Given the description of an element on the screen output the (x, y) to click on. 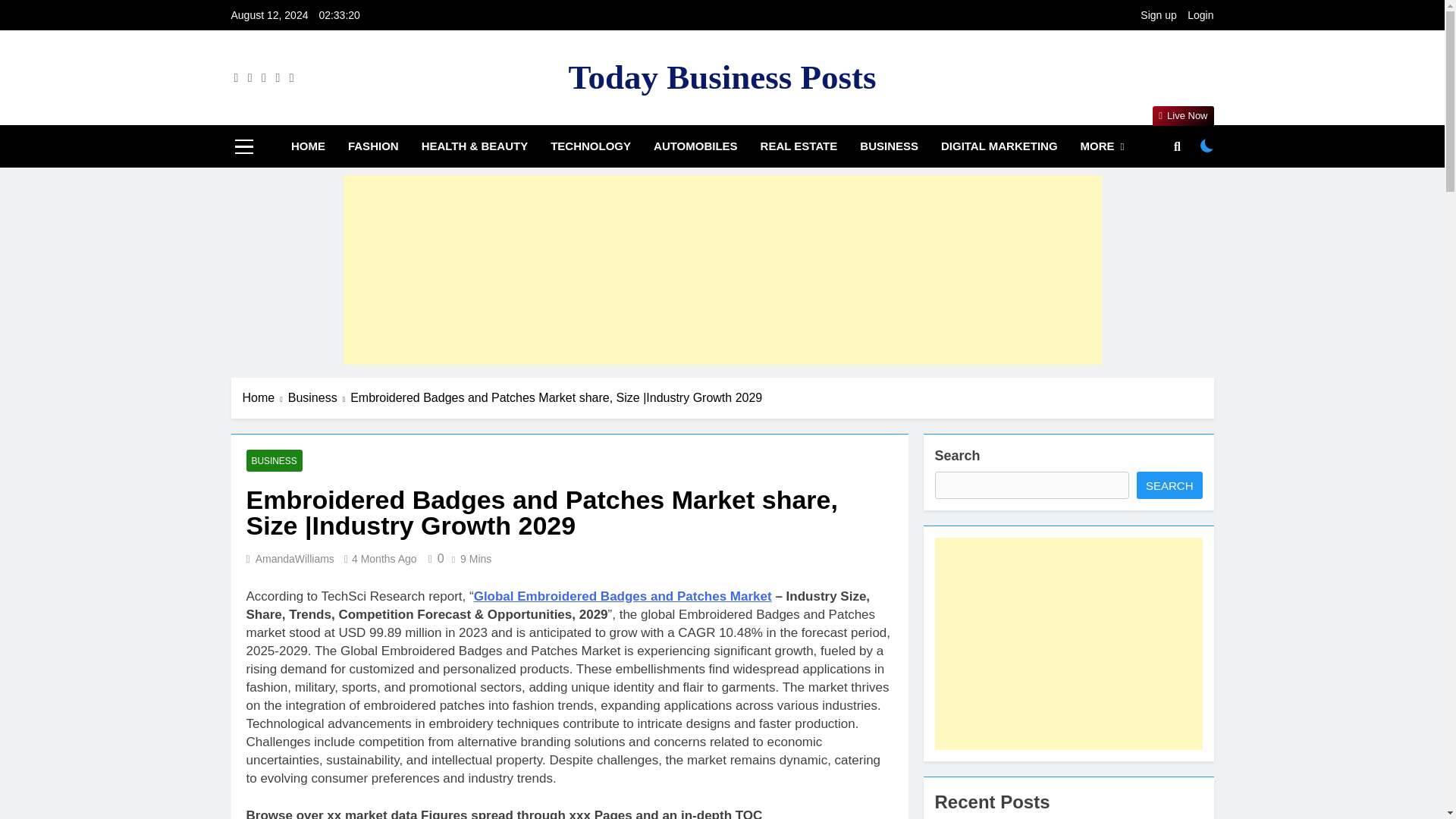
TECHNOLOGY (590, 146)
Login (1200, 15)
Today Business Posts (722, 77)
Sign up (1158, 15)
HOME (307, 146)
AUTOMOBILES (695, 146)
Advertisement (1068, 643)
REAL ESTATE (798, 146)
FASHION (373, 146)
